Given the description of an element on the screen output the (x, y) to click on. 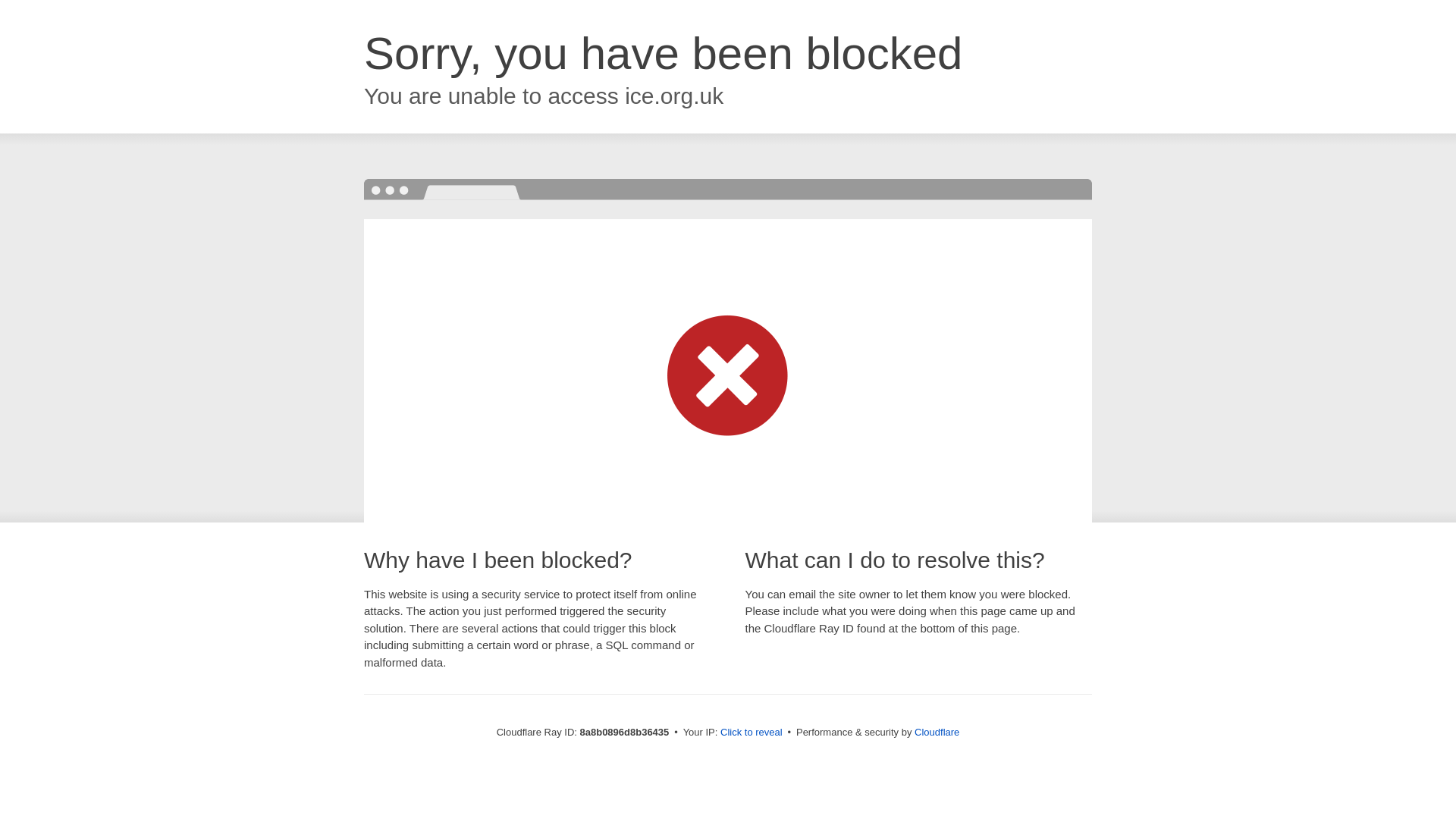
Cloudflare (936, 731)
Click to reveal (751, 732)
